Given the description of an element on the screen output the (x, y) to click on. 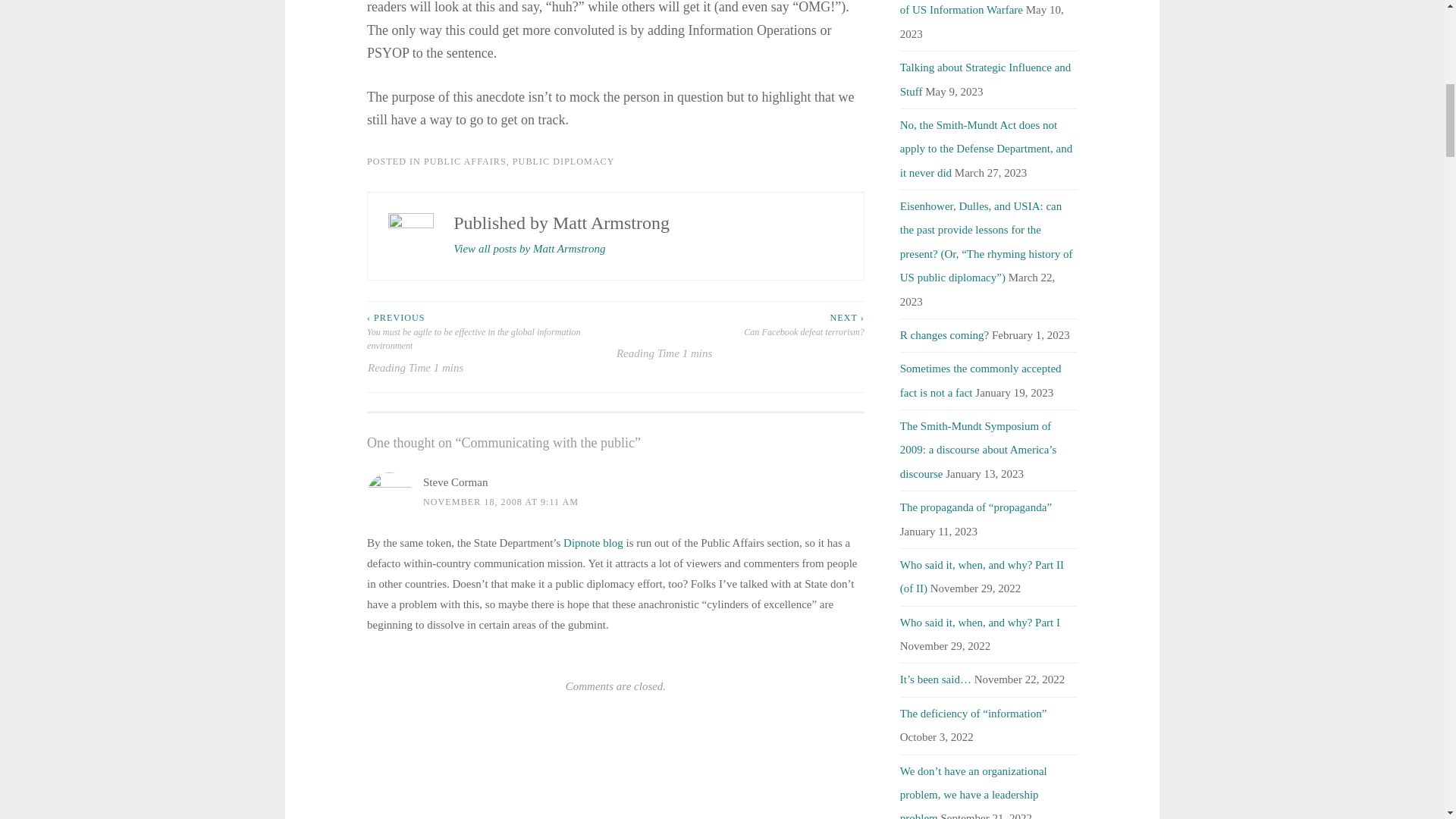
Talking about Strategic Influence and Stuff (985, 79)
R changes coming? (943, 335)
Dipnote blog (593, 542)
PUBLIC DIPLOMACY (563, 161)
PUBLIC AFFAIRS (464, 161)
NOVEMBER 18, 2008 AT 9:11 AM (500, 501)
View all posts by Matt Armstrong (528, 249)
Sometimes the commonly accepted fact is not a fact (980, 380)
